Given the description of an element on the screen output the (x, y) to click on. 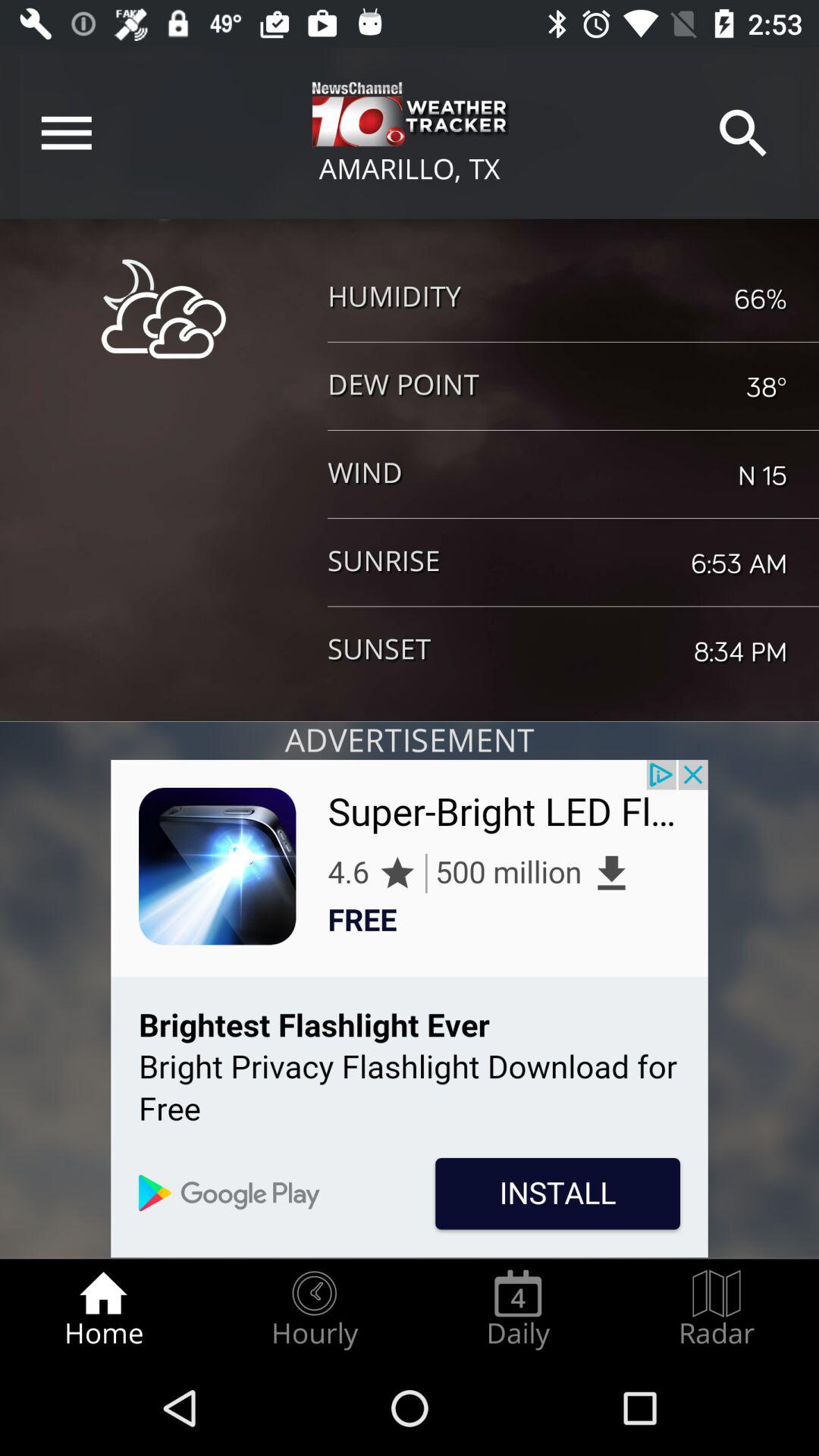
select home (103, 1309)
